Given the description of an element on the screen output the (x, y) to click on. 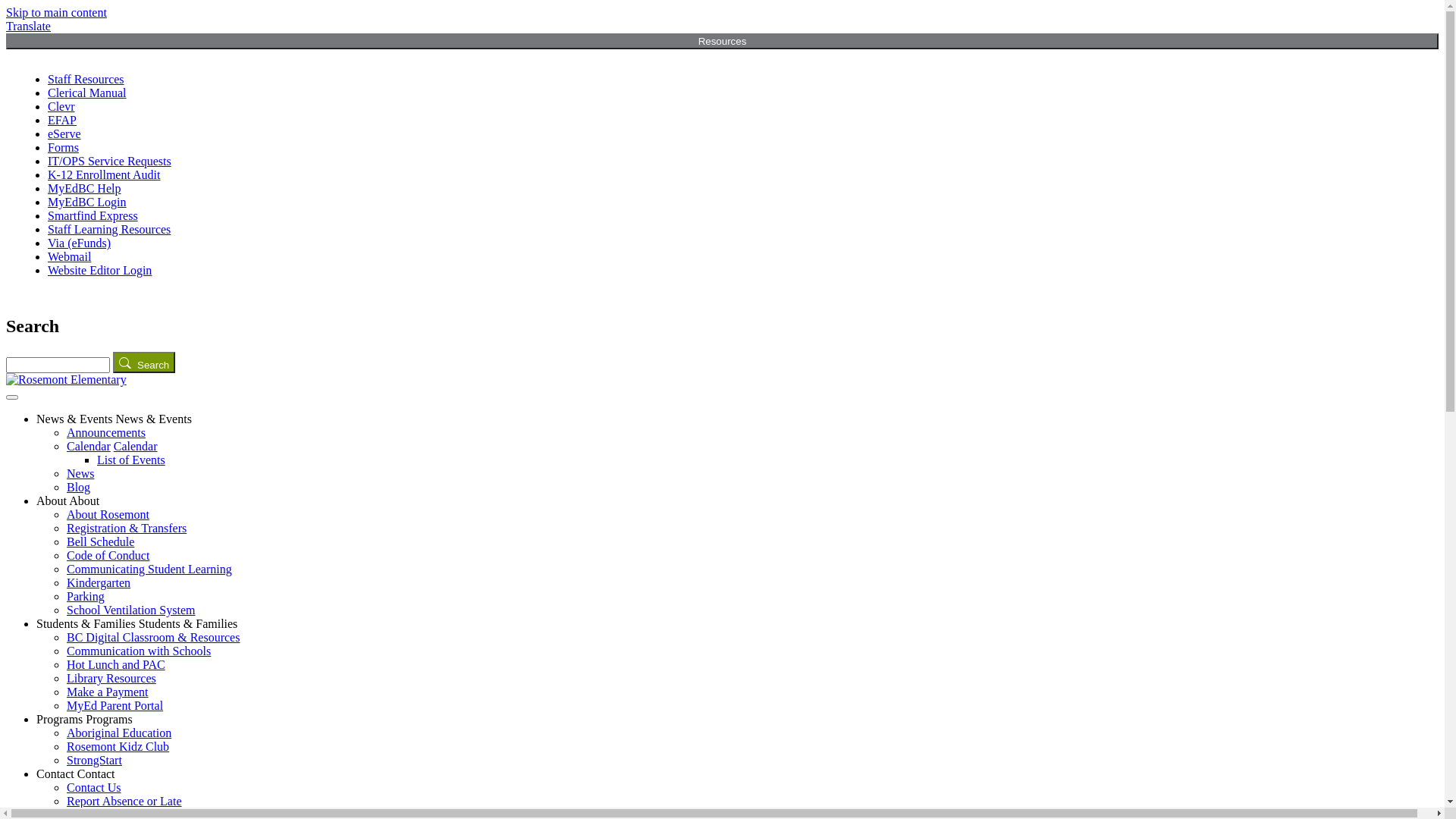
eServe Element type: text (64, 133)
Staff Resources Element type: text (85, 78)
Webmail Element type: text (69, 256)
Contact Us Element type: text (93, 787)
Translate Element type: text (28, 25)
About Rosemont Element type: text (107, 514)
Announcements Element type: text (105, 432)
Make a Payment Element type: text (107, 691)
School Ventilation System Element type: text (130, 609)
Staff Learning Resources Element type: text (108, 228)
Registration & Transfers Element type: text (126, 527)
Website Editor Login Element type: text (99, 269)
Report Absence or Late Element type: text (124, 800)
Enter the terms you wish to search for. Element type: hover (57, 365)
Search Element type: text (143, 362)
MyEdBC Login Element type: text (86, 201)
Communication with Schools Element type: text (138, 650)
Skip to main content Element type: text (56, 12)
Aboriginal Education Element type: text (118, 732)
IT/OPS Service Requests Element type: text (109, 160)
BC Digital Classroom & Resources Element type: text (152, 636)
EFAP Element type: text (61, 119)
Smartfind Express Element type: text (92, 215)
Resources Element type: text (722, 41)
Hot Lunch and PAC Element type: text (115, 664)
Calendar Element type: text (88, 445)
Blog Element type: text (78, 486)
Code of Conduct Element type: text (107, 555)
Library Resources Element type: text (111, 677)
Calendar Element type: text (135, 445)
Clevr Element type: text (61, 106)
News Element type: text (80, 473)
MyEd Parent Portal Element type: text (114, 705)
Rosemont Kidz Club Element type: text (117, 746)
K-12 Enrollment Audit Element type: text (103, 174)
List of Events Element type: text (131, 459)
Communicating Student Learning Element type: text (149, 568)
Kindergarten Element type: text (98, 582)
Forms Element type: text (62, 147)
Bell Schedule Element type: text (100, 541)
MyEdBC Help Element type: text (83, 188)
Clerical Manual Element type: text (86, 92)
Via (eFunds) Element type: text (78, 242)
StrongStart Element type: text (94, 759)
Parking Element type: text (85, 595)
